Given the description of an element on the screen output the (x, y) to click on. 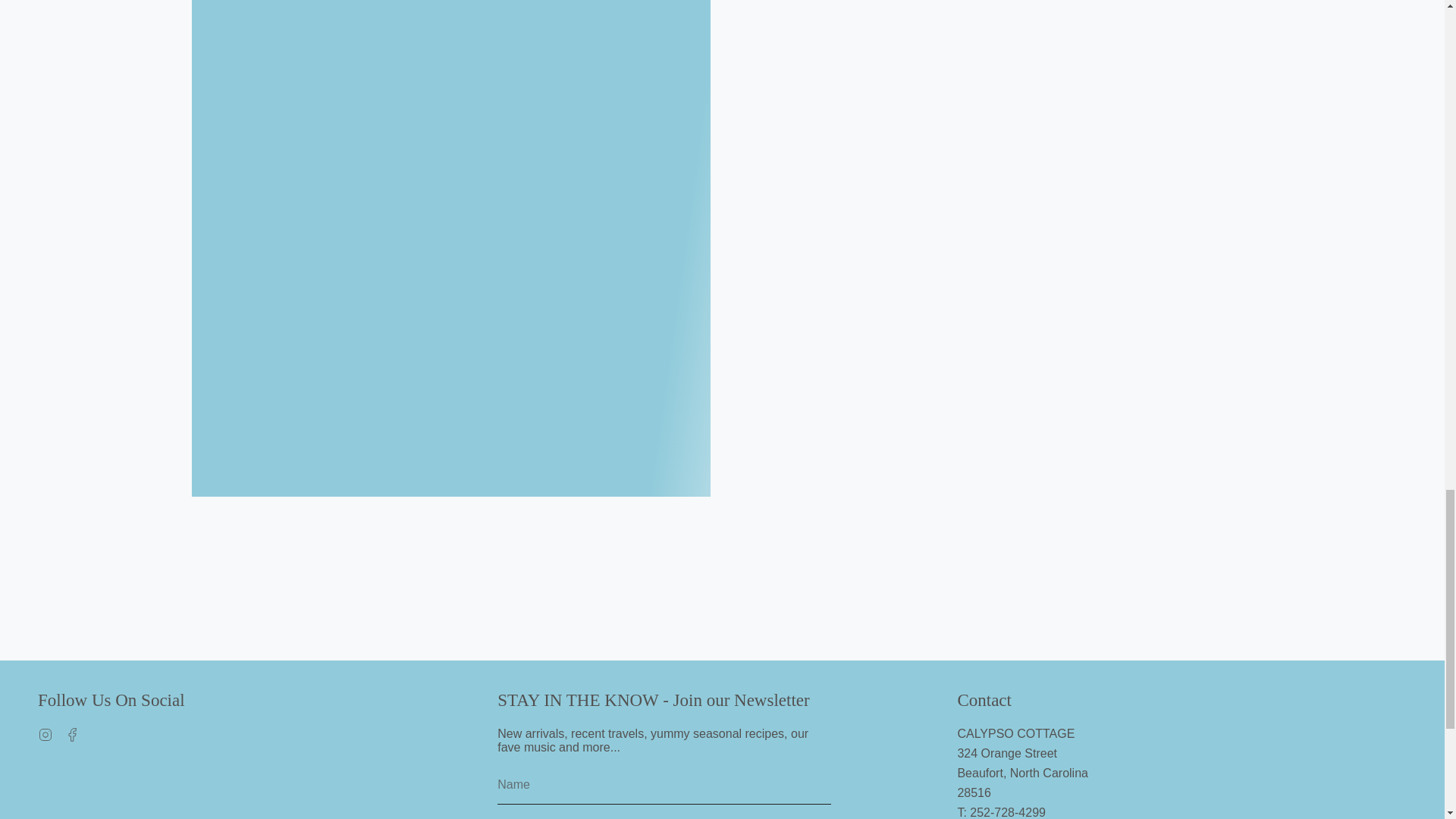
Calypso Cottage- Luxury Resort Lifestyle  on Instagram (44, 733)
Calypso Cottage- Luxury Resort Lifestyle  on Facebook (72, 733)
